Given the description of an element on the screen output the (x, y) to click on. 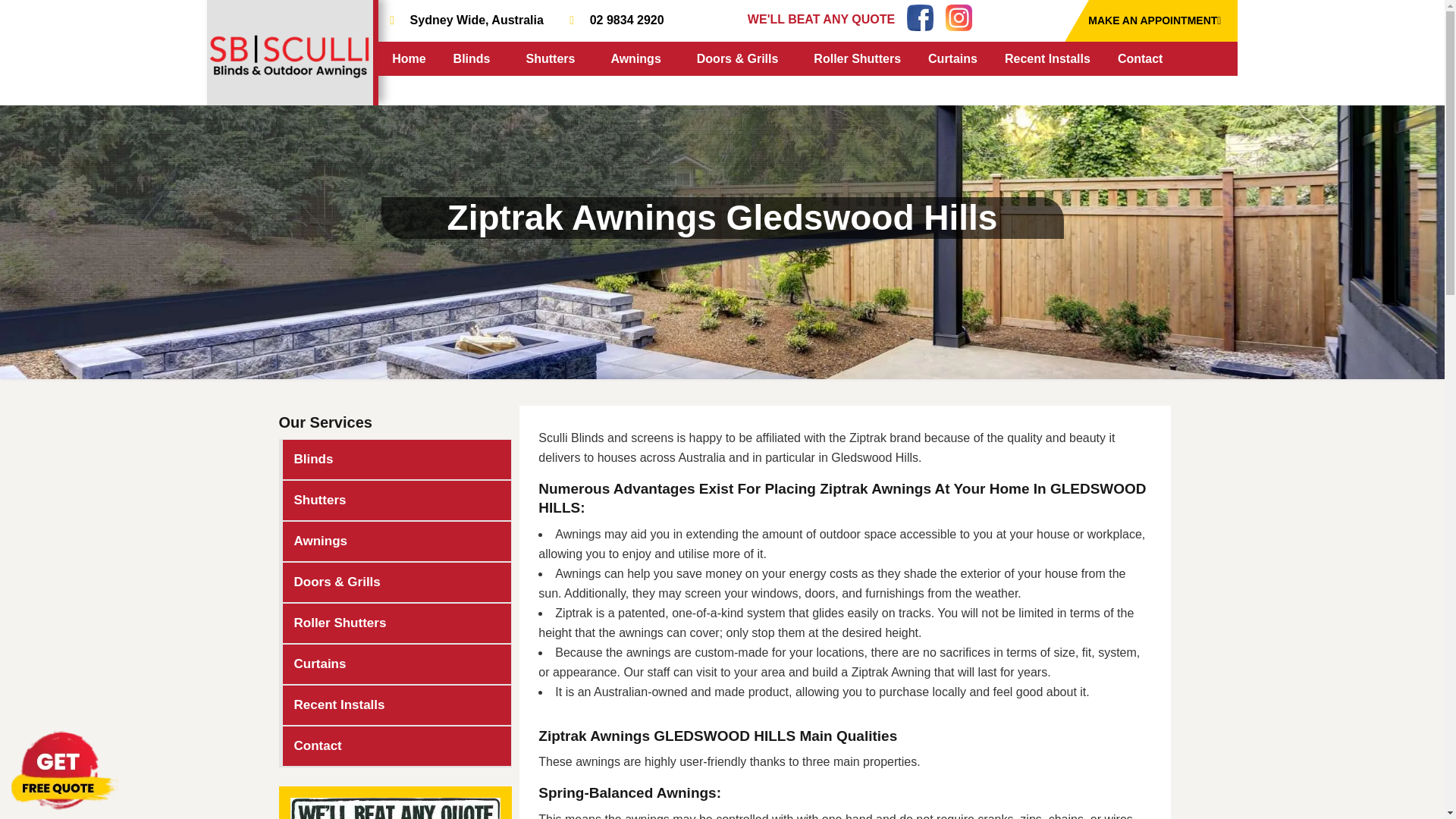
Blinds (475, 58)
Sculli Blinds and Screens (289, 55)
Roller Shutters (857, 58)
Shutters (554, 58)
MAKE AN APPOINTMENT (1151, 20)
Blinds (395, 458)
Contact (1140, 58)
Shutters (395, 499)
Awnings (639, 58)
Home (408, 58)
Curtains (952, 58)
Recent Installs (1047, 58)
